Given the description of an element on the screen output the (x, y) to click on. 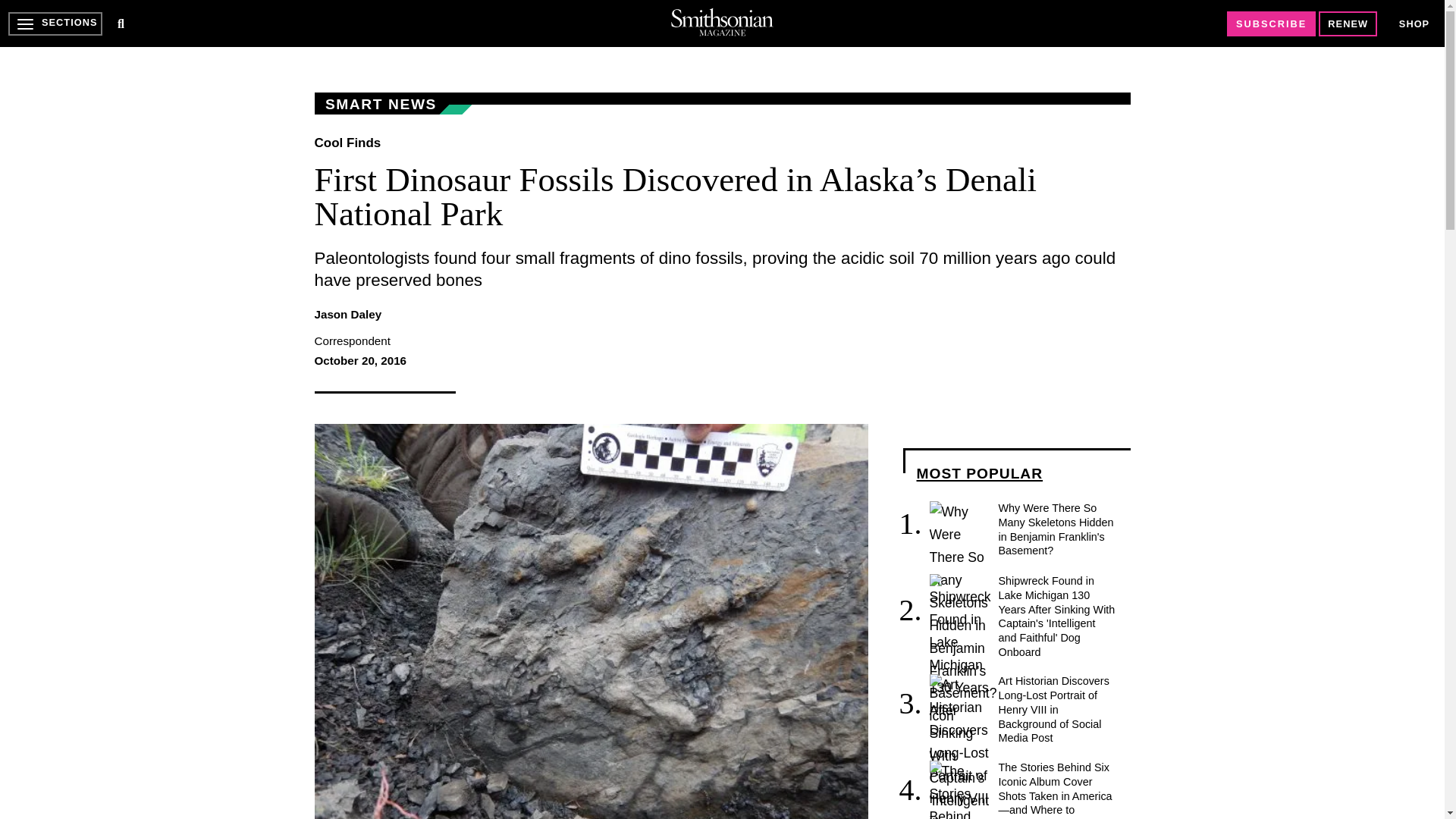
RENEW (1347, 23)
SHOP (1414, 23)
SUBSCRIBE (1271, 23)
RENEW (1348, 23)
SUBSCRIBE (1271, 23)
SHOP (1413, 23)
SECTIONS (55, 23)
